Given the description of an element on the screen output the (x, y) to click on. 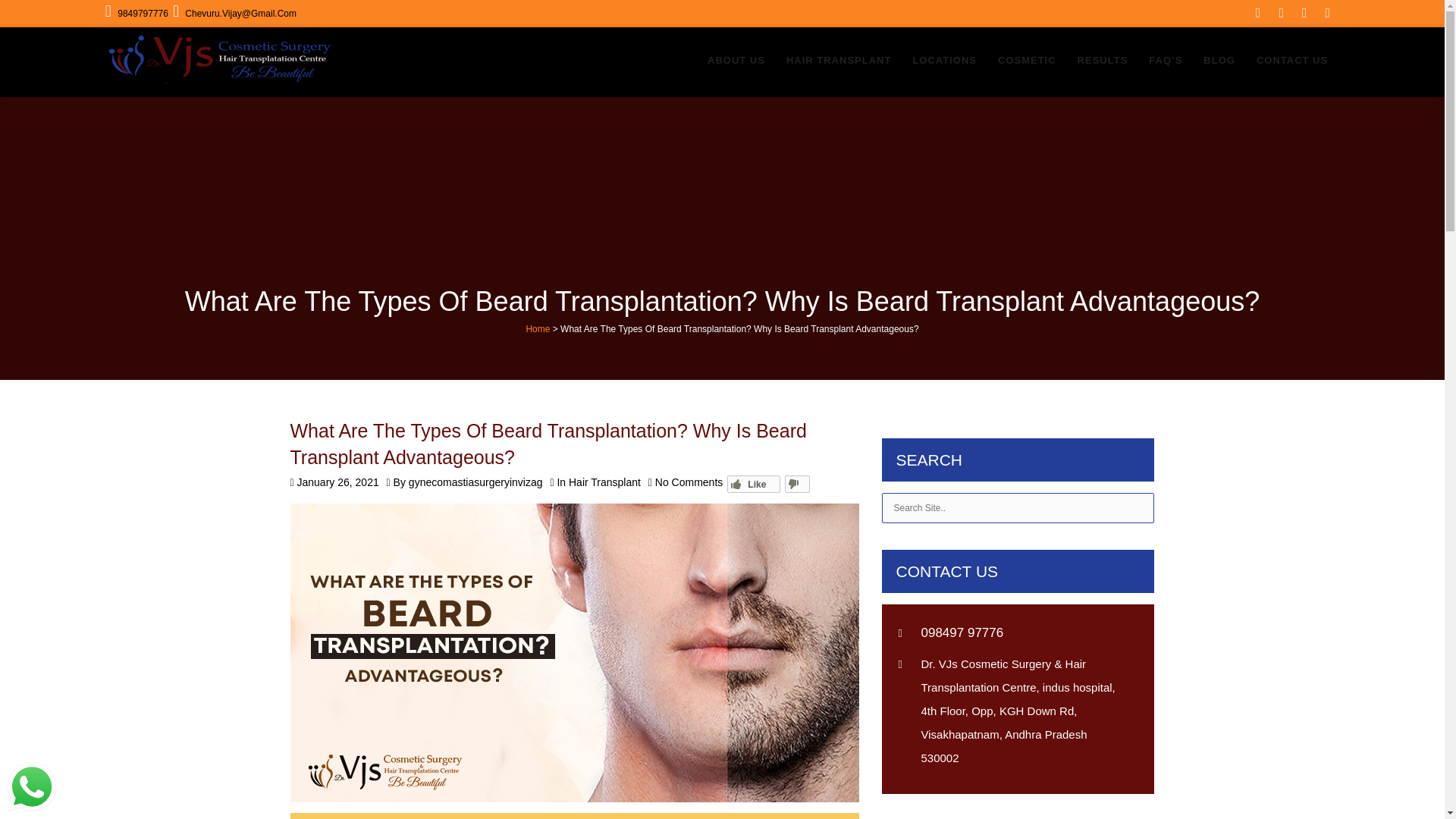
Posts by gynecomastiasurgeryinvizag (476, 481)
ABOUT US (736, 61)
HAIR TRANSPLANT (839, 61)
LOCATIONS (944, 61)
